Given the description of an element on the screen output the (x, y) to click on. 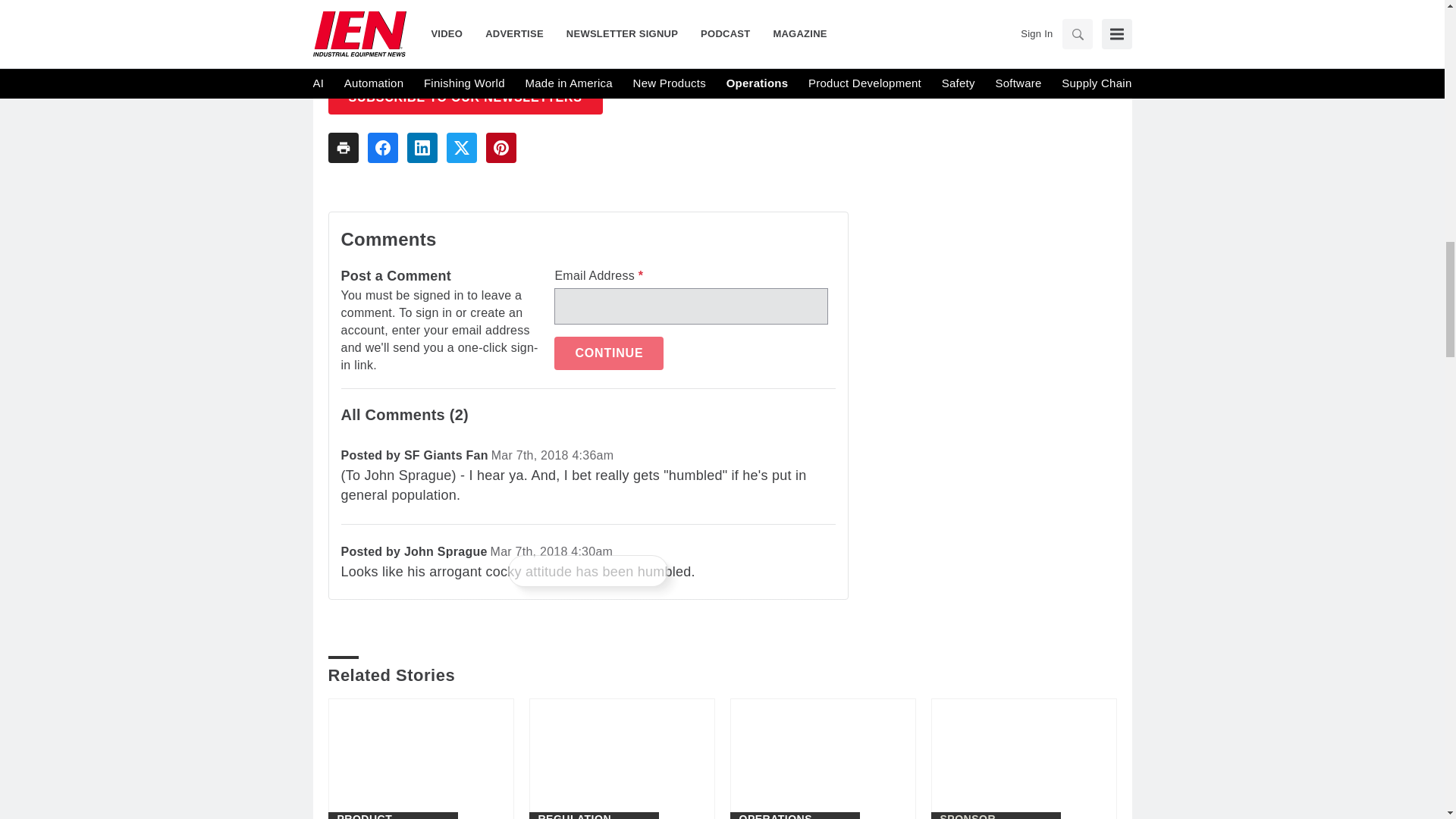
Share To pinterest (499, 147)
Share To linkedin (421, 147)
Share To print (342, 147)
Share To facebook (381, 147)
Share To twitter (460, 147)
